Given the description of an element on the screen output the (x, y) to click on. 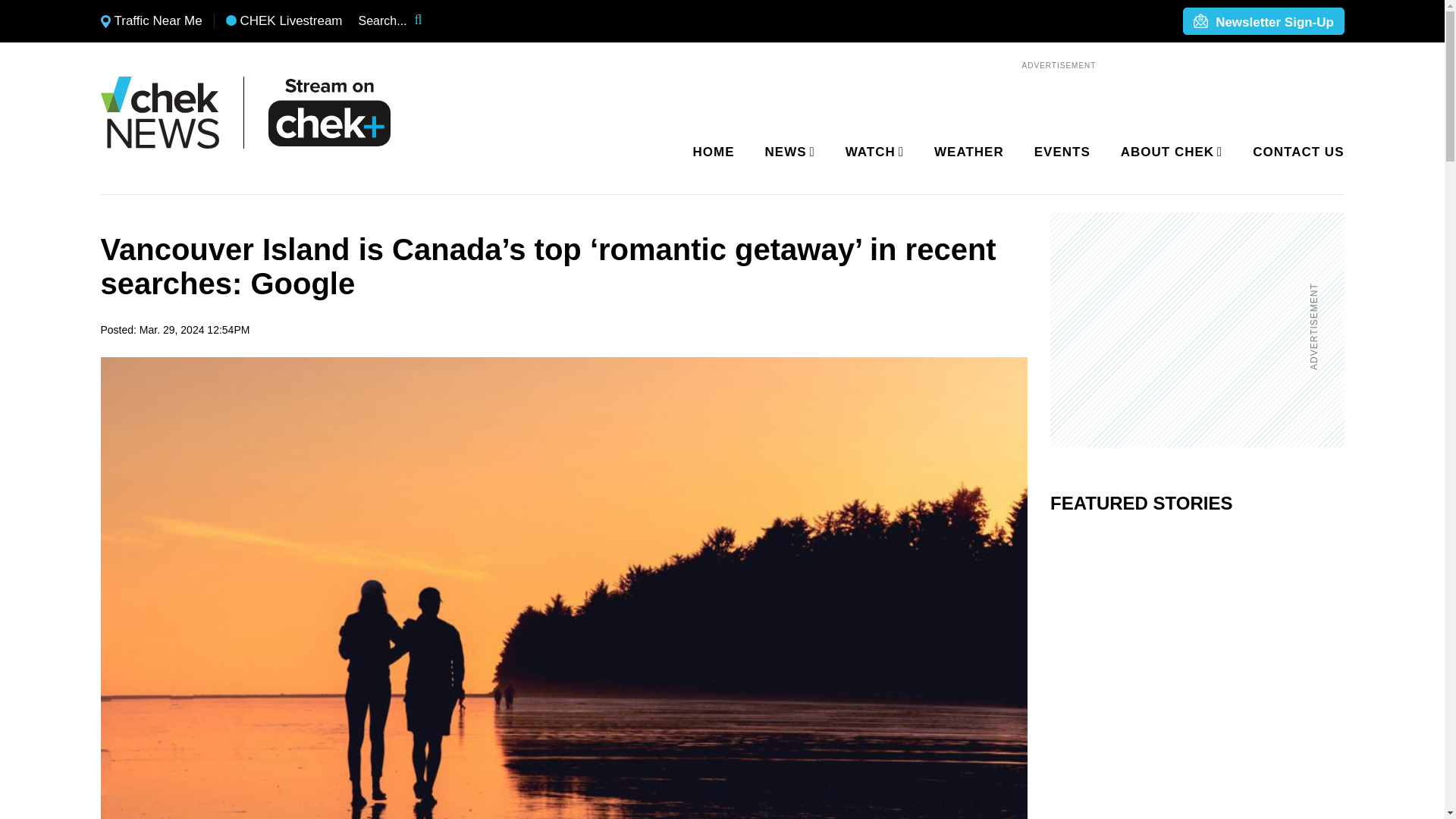
CHEK Livestream (283, 20)
Search (428, 21)
Traffic Near Me (151, 20)
HOME (714, 152)
NEWS (787, 152)
Newsletter Sign-Up (1262, 22)
